Given the description of an element on the screen output the (x, y) to click on. 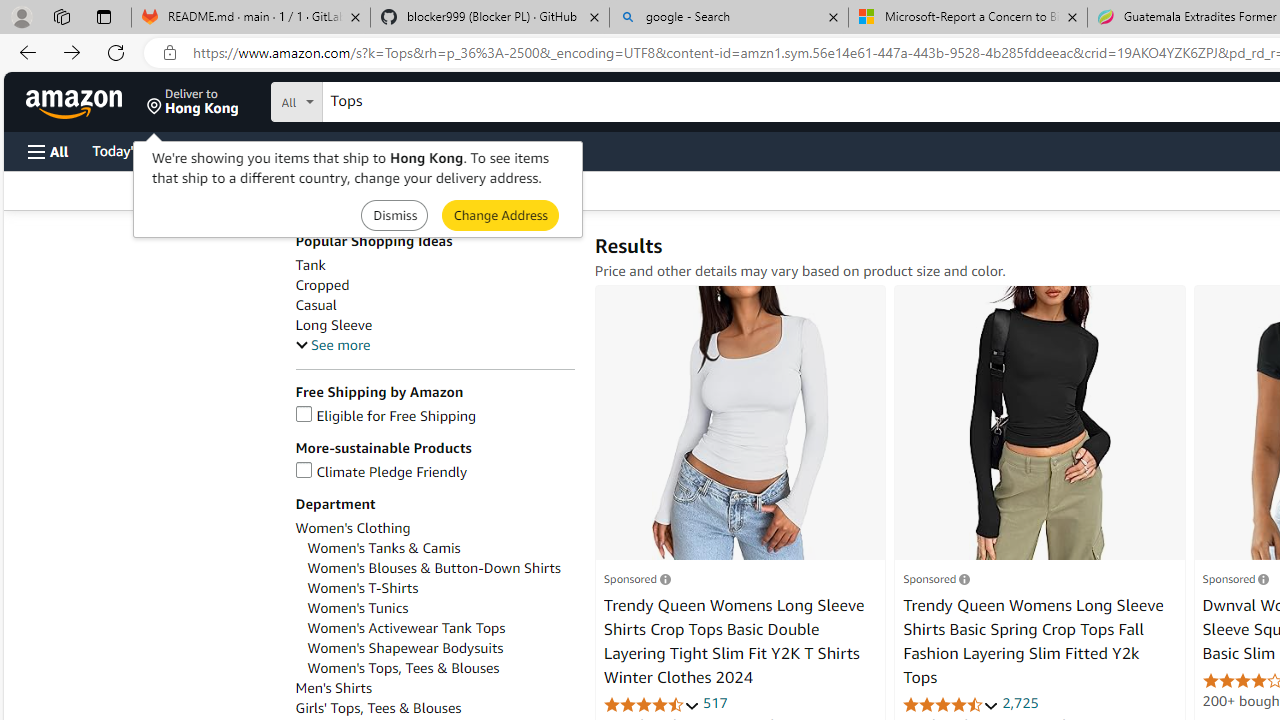
Tank (434, 265)
4.4 out of 5 stars (950, 704)
Women's Clothing (352, 528)
Long Sleeve (434, 325)
517 (715, 702)
Amazon (76, 101)
View Sponsored information or leave ad feedback (1235, 578)
Today's Deals (134, 150)
Women's T-Shirts (440, 588)
Women's Tunics (440, 608)
Women's Blouses & Button-Down Shirts (440, 568)
